Given the description of an element on the screen output the (x, y) to click on. 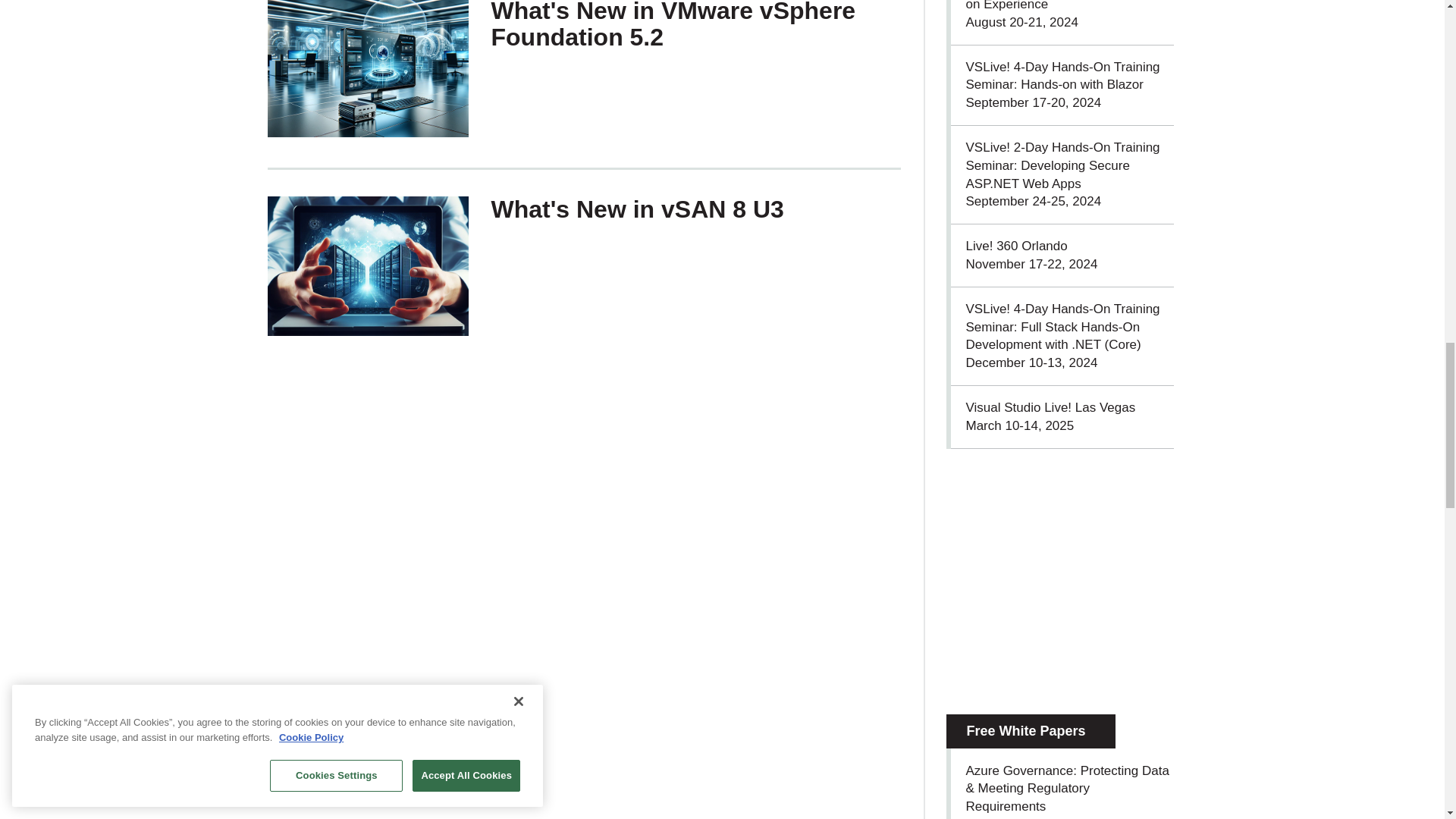
3rd party ad content (1059, 581)
